Given the description of an element on the screen output the (x, y) to click on. 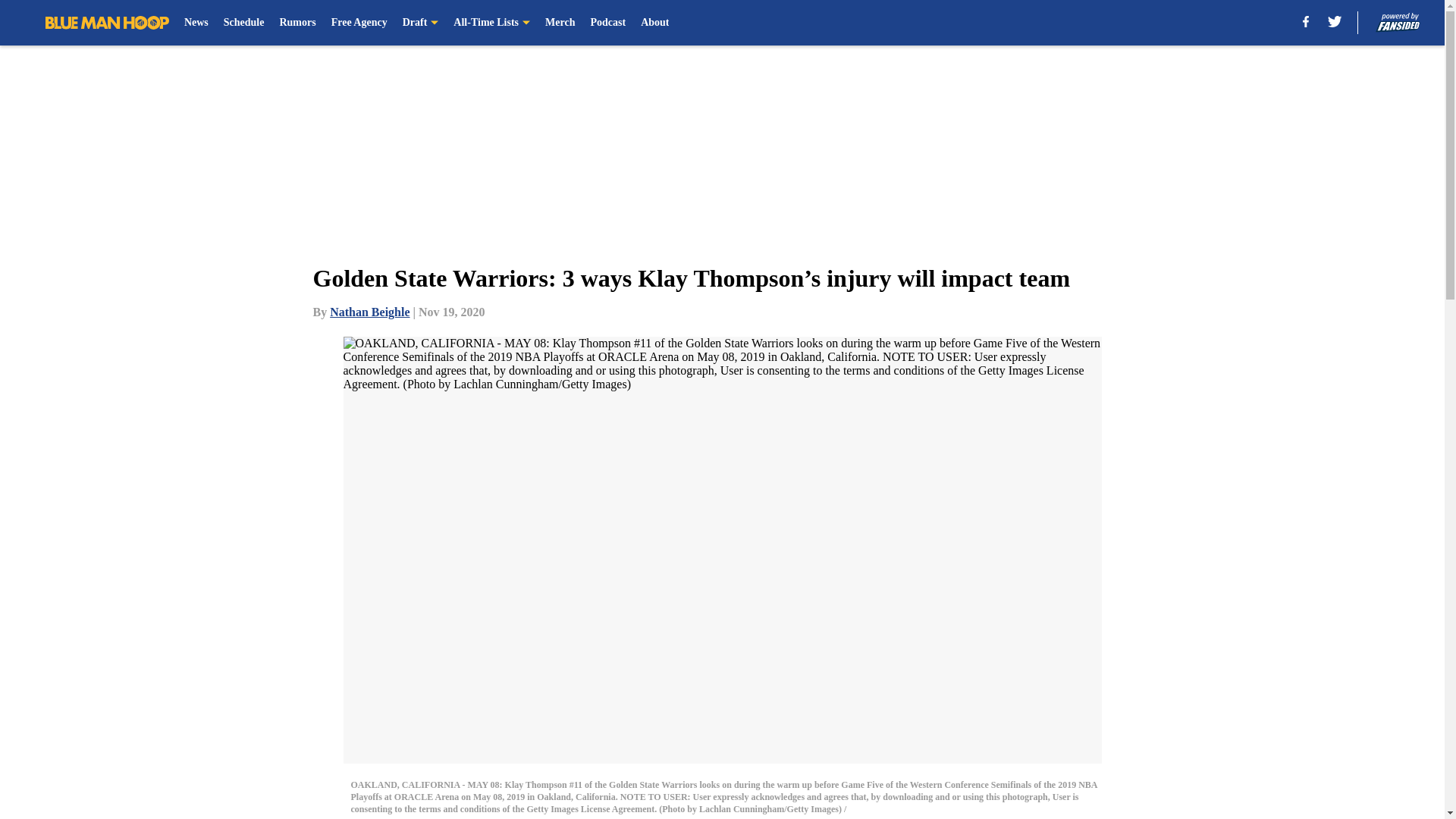
Merch (559, 22)
Rumors (297, 22)
Schedule (244, 22)
Free Agency (359, 22)
About (654, 22)
Podcast (607, 22)
All-Time Lists (490, 22)
Nathan Beighle (369, 311)
News (196, 22)
Draft (421, 22)
